Given the description of an element on the screen output the (x, y) to click on. 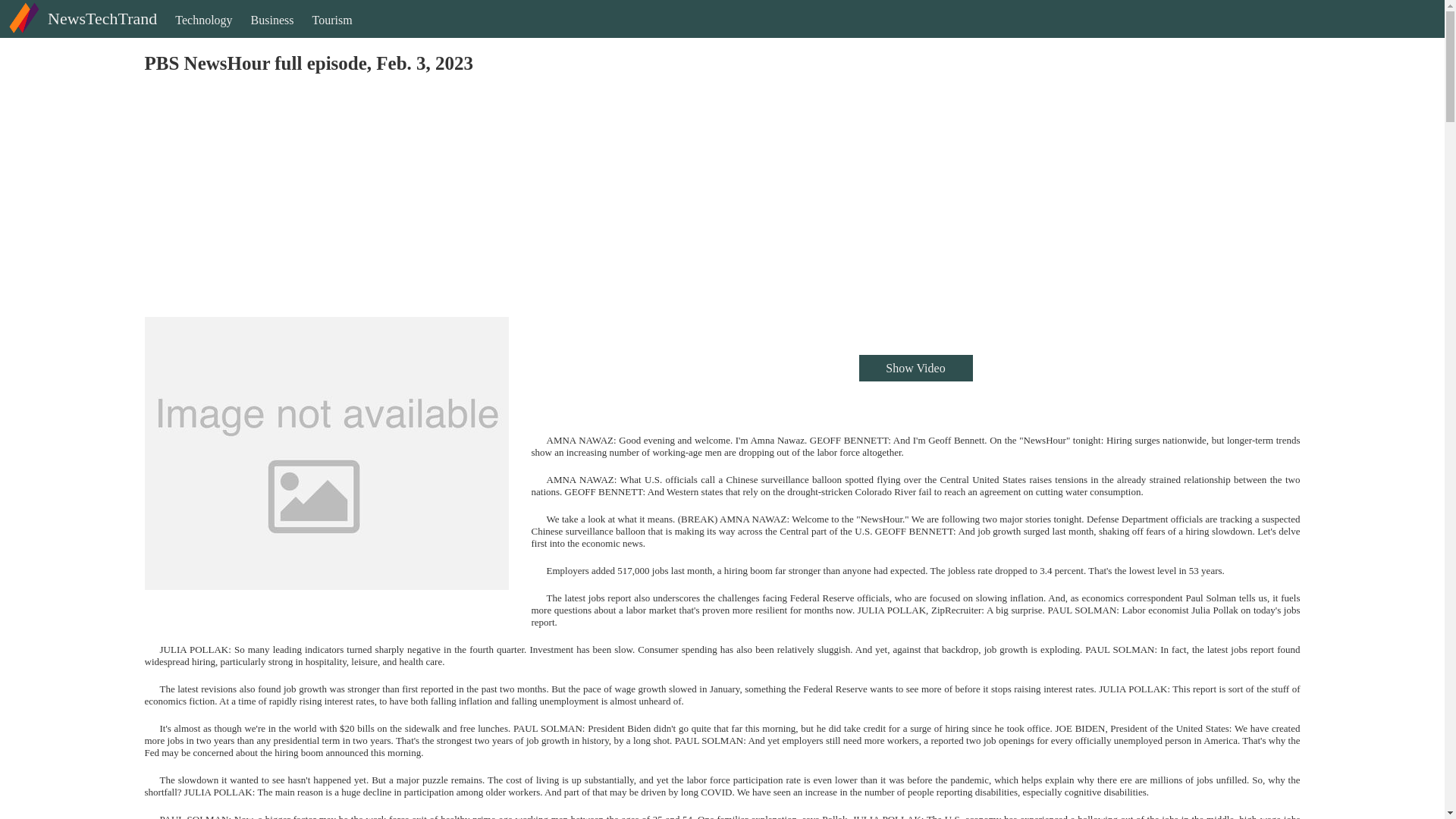
Technology (202, 32)
Tourism (332, 32)
Show Video (915, 367)
NewsTechTrand (80, 31)
Business (272, 32)
PBS NewsHour full episode, Feb. 3, 2023 (326, 452)
